Given the description of an element on the screen output the (x, y) to click on. 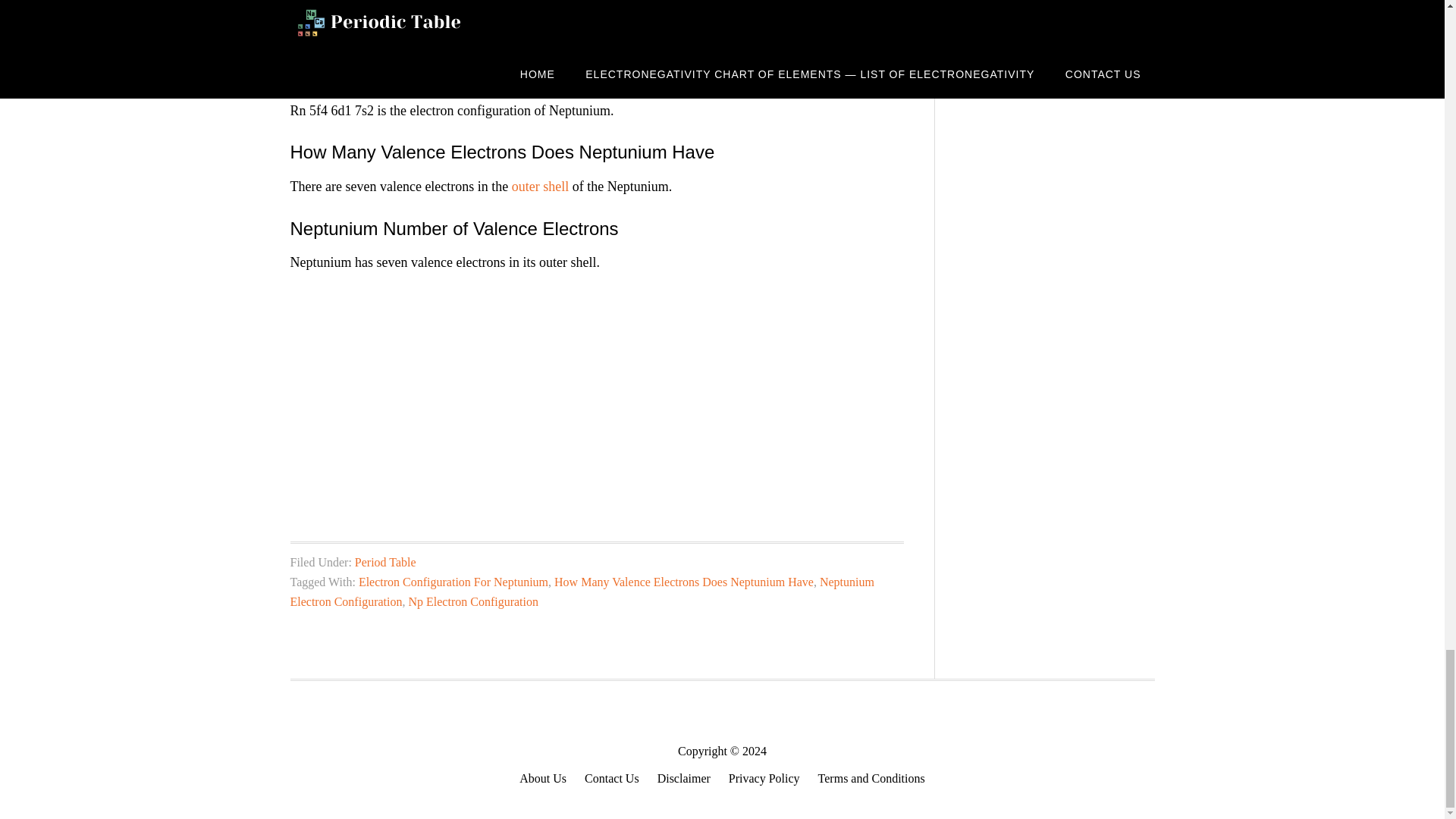
Period Table (385, 562)
Np Electron Configuration (472, 601)
outer shell (540, 186)
How Many Valence Electrons Does Neptunium Have (683, 581)
Electron Configuration For Neptunium (453, 581)
Neptunium Electron Configuration (581, 591)
